Given the description of an element on the screen output the (x, y) to click on. 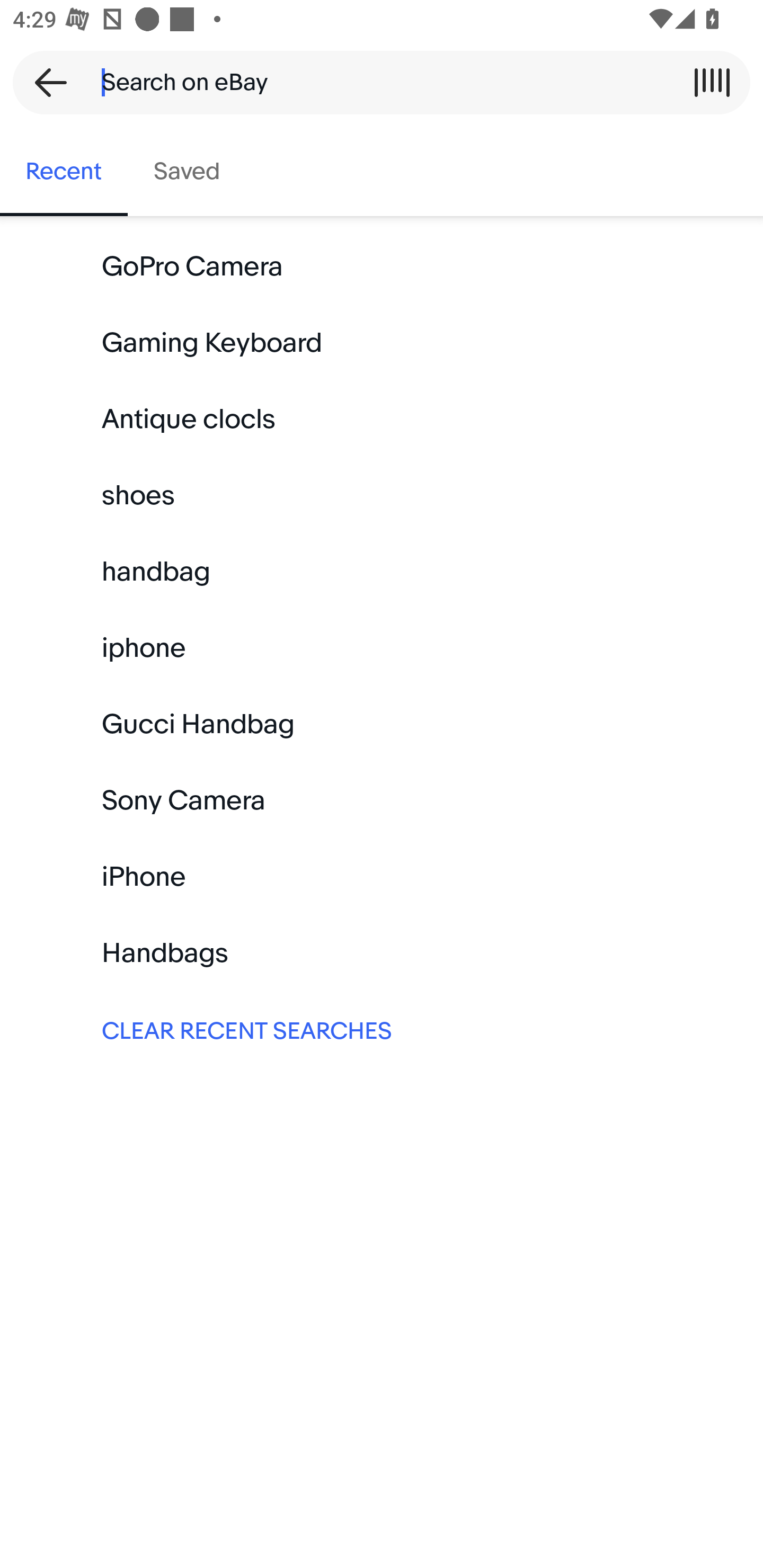
Back (44, 82)
Scan a barcode (711, 82)
Search on eBay (375, 82)
Saved, tab 2 of 2 Saved (186, 171)
GoPro Camera Keyword search GoPro Camera: (381, 266)
Gaming Keyboard Keyword search Gaming Keyboard: (381, 343)
Antique clocls Keyword search Antique clocls: (381, 419)
shoes Keyword search shoes: (381, 495)
handbag Keyword search handbag: (381, 571)
iphone Keyword search iphone: (381, 647)
Gucci Handbag Keyword search Gucci Handbag: (381, 724)
Sony Camera Keyword search Sony Camera: (381, 800)
iPhone Keyword search iPhone: (381, 876)
Handbags Keyword search Handbags: (381, 952)
CLEAR RECENT SEARCHES (381, 1028)
